Given the description of an element on the screen output the (x, y) to click on. 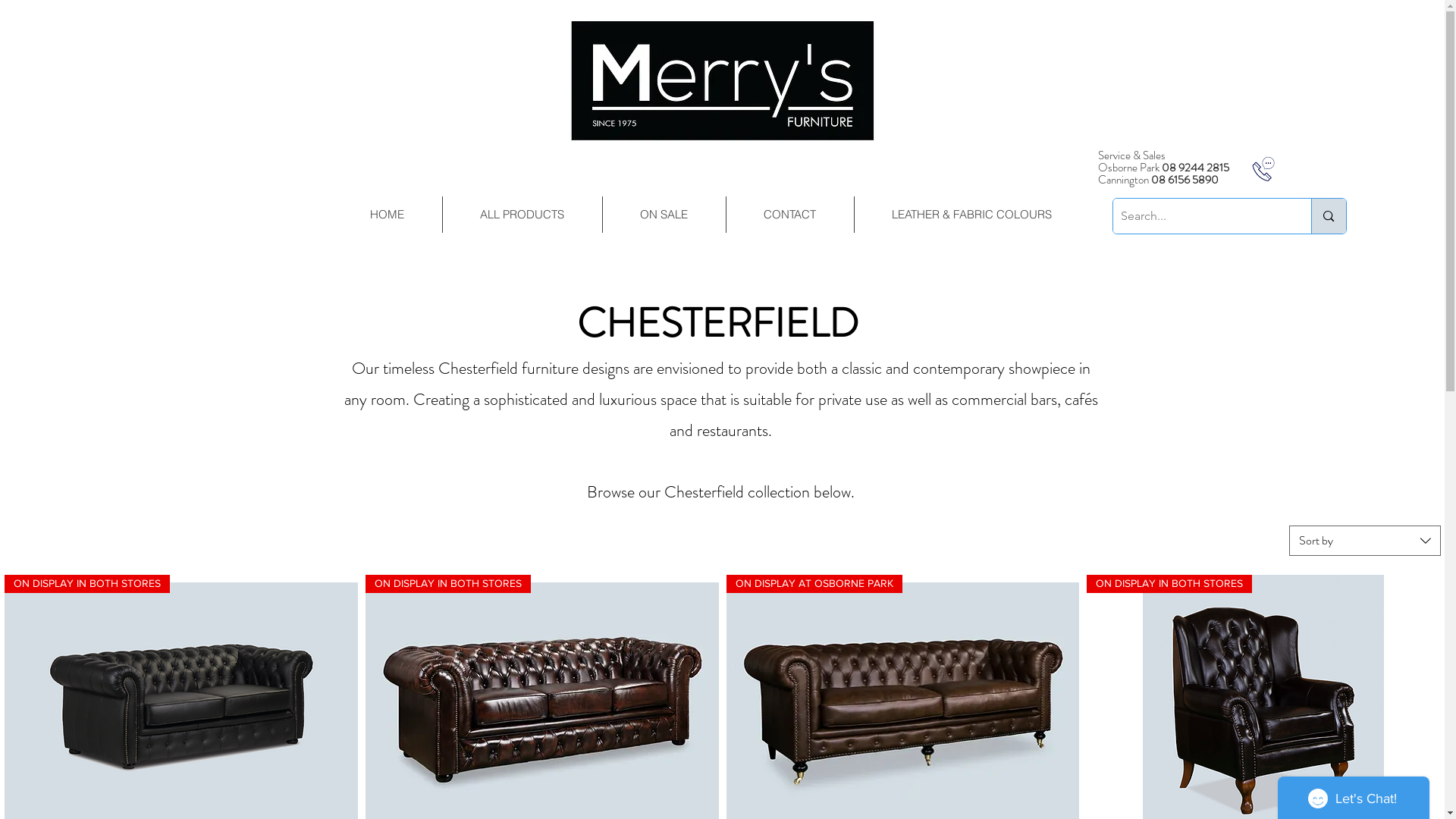
CONTACT Element type: text (788, 214)
HOME Element type: text (386, 214)
Sort by Element type: text (1364, 540)
ALL PRODUCTS Element type: text (521, 214)
LEATHER & FABRIC COLOURS Element type: text (970, 214)
ON SALE Element type: text (663, 214)
